Given the description of an element on the screen output the (x, y) to click on. 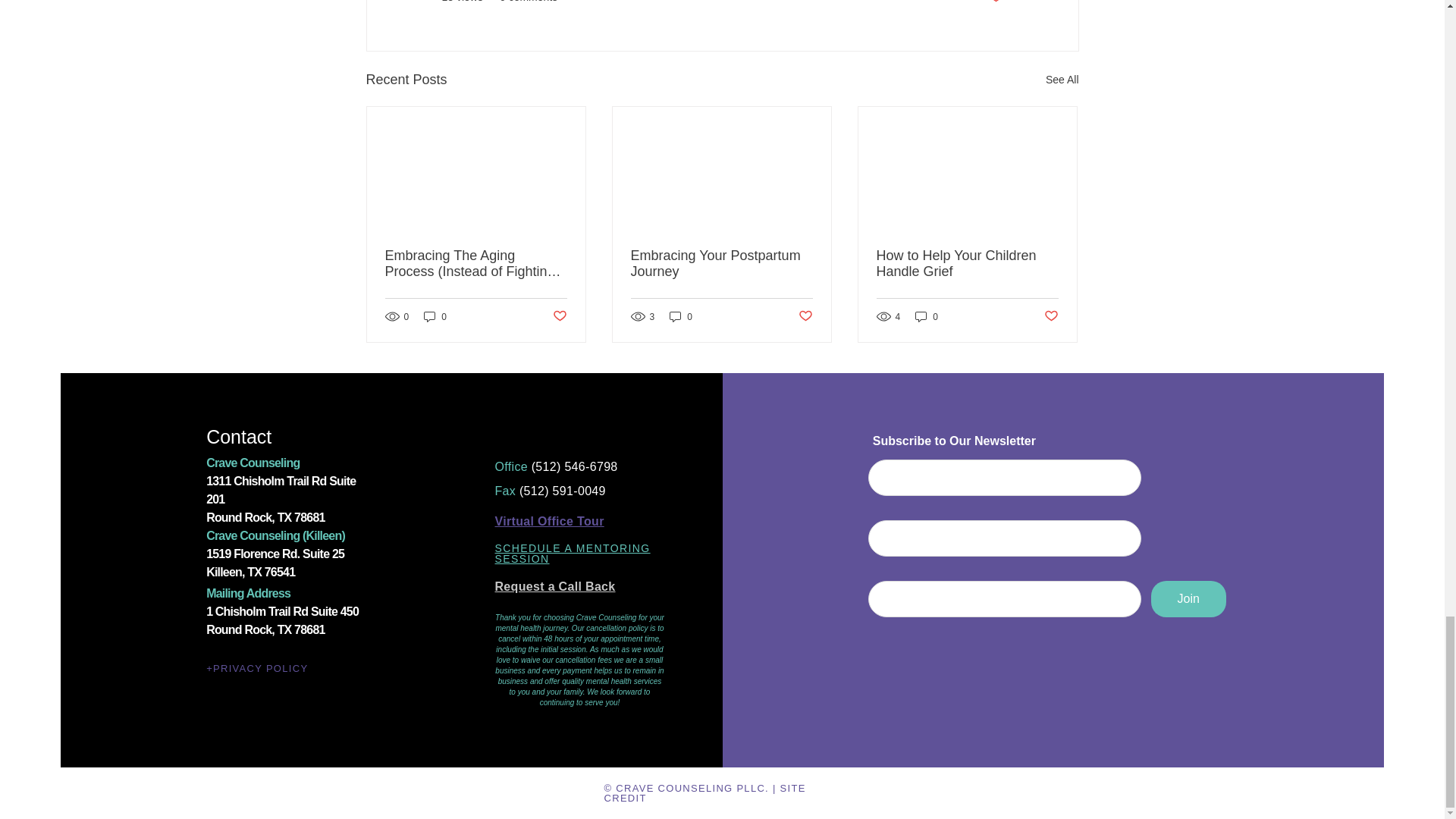
Post not marked as liked (995, 2)
0 (435, 316)
Post not marked as liked (558, 316)
See All (1061, 79)
